Given the description of an element on the screen output the (x, y) to click on. 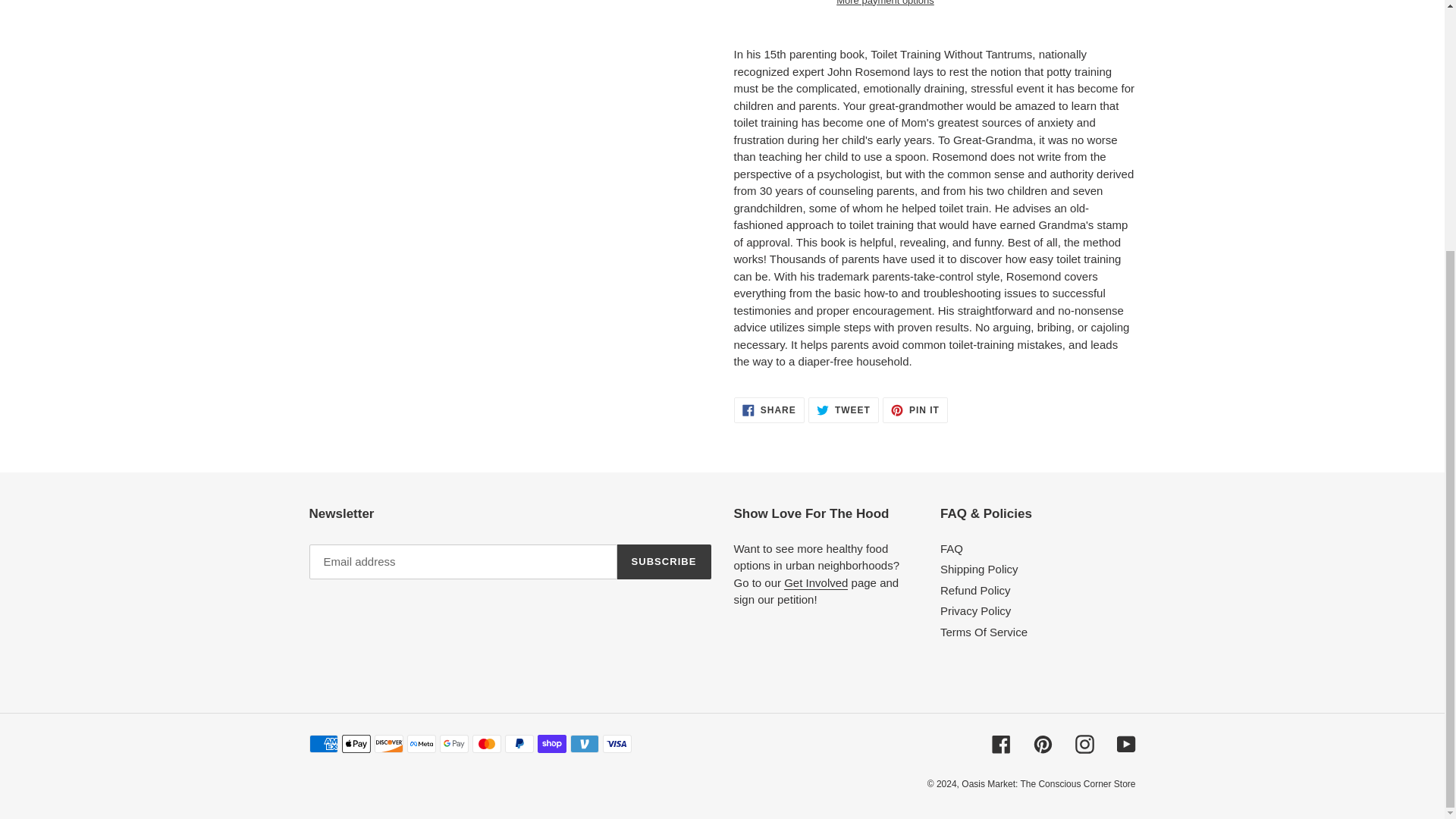
Get Involved (815, 582)
